Given the description of an element on the screen output the (x, y) to click on. 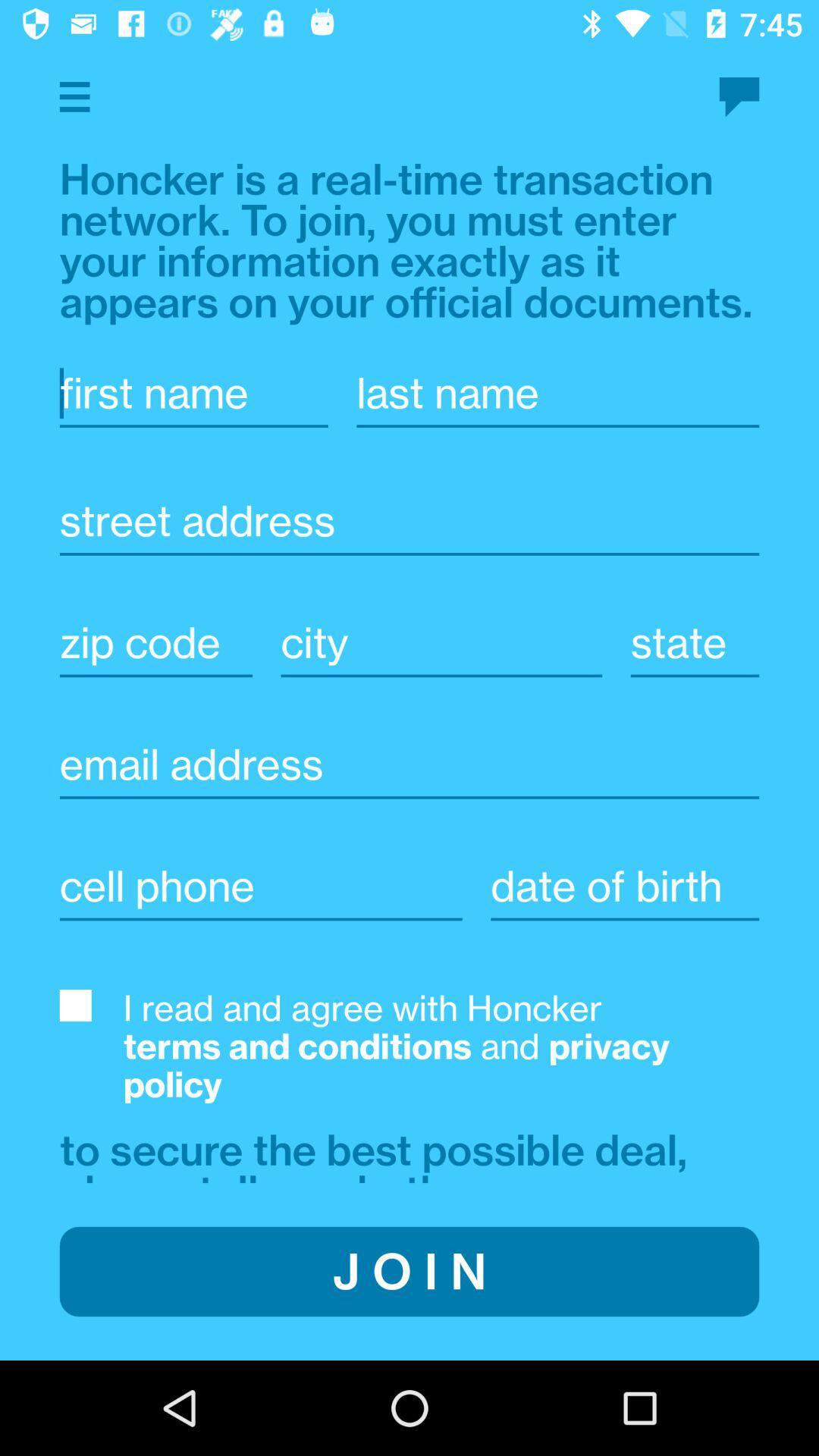
open chat (739, 97)
